Given the description of an element on the screen output the (x, y) to click on. 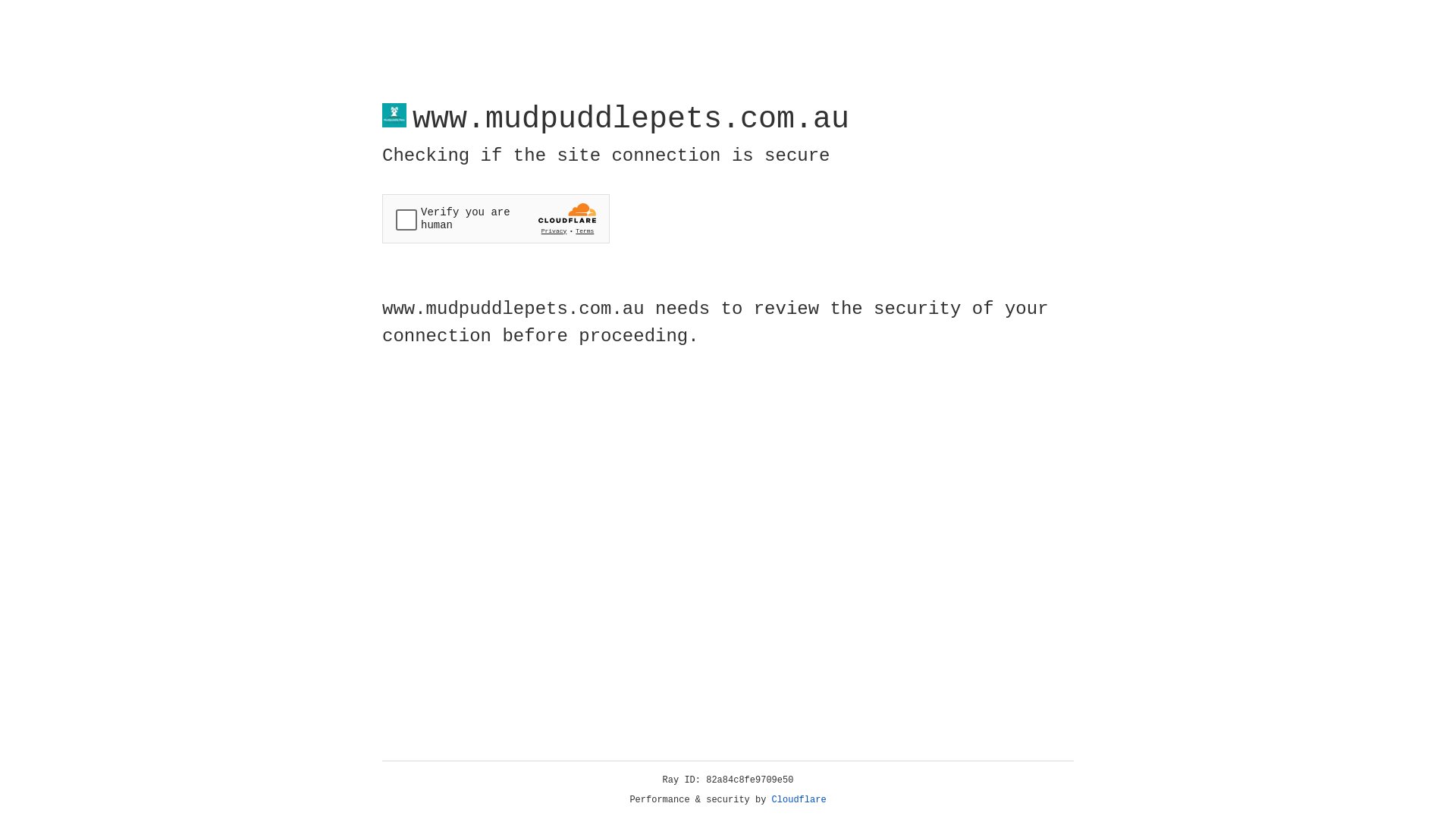
Cloudflare Element type: text (798, 799)
Widget containing a Cloudflare security challenge Element type: hover (495, 218)
